Given the description of an element on the screen output the (x, y) to click on. 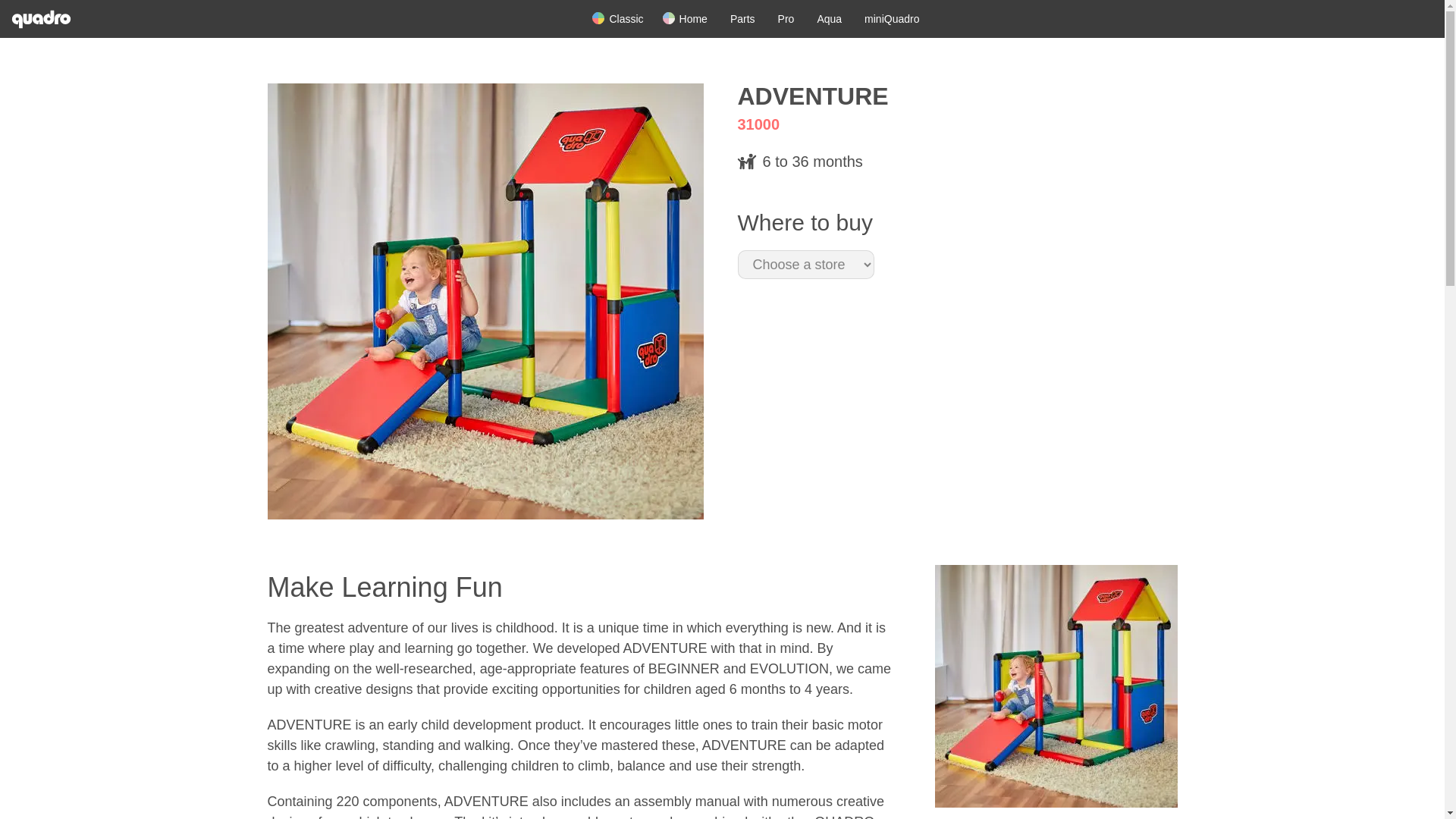
Parts (743, 18)
Choose a store (804, 264)
miniQuadro (891, 18)
Pro (786, 18)
Aqua (829, 18)
Home (46, 18)
